Given the description of an element on the screen output the (x, y) to click on. 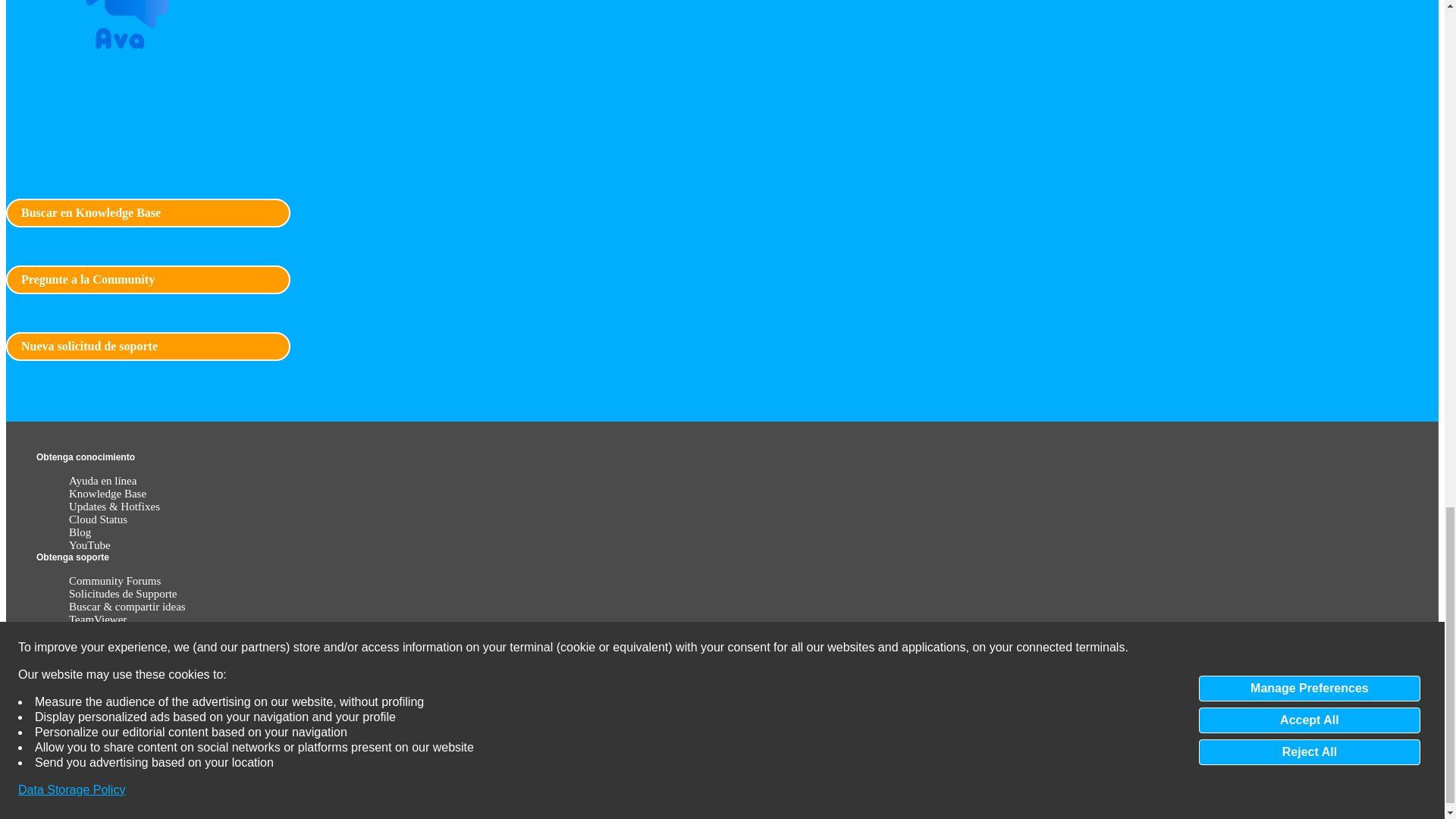
Pregunte a la Community (147, 279)
Buscar en Knowledge Base (147, 213)
Nueva solicitud de soporte (147, 346)
